Given the description of an element on the screen output the (x, y) to click on. 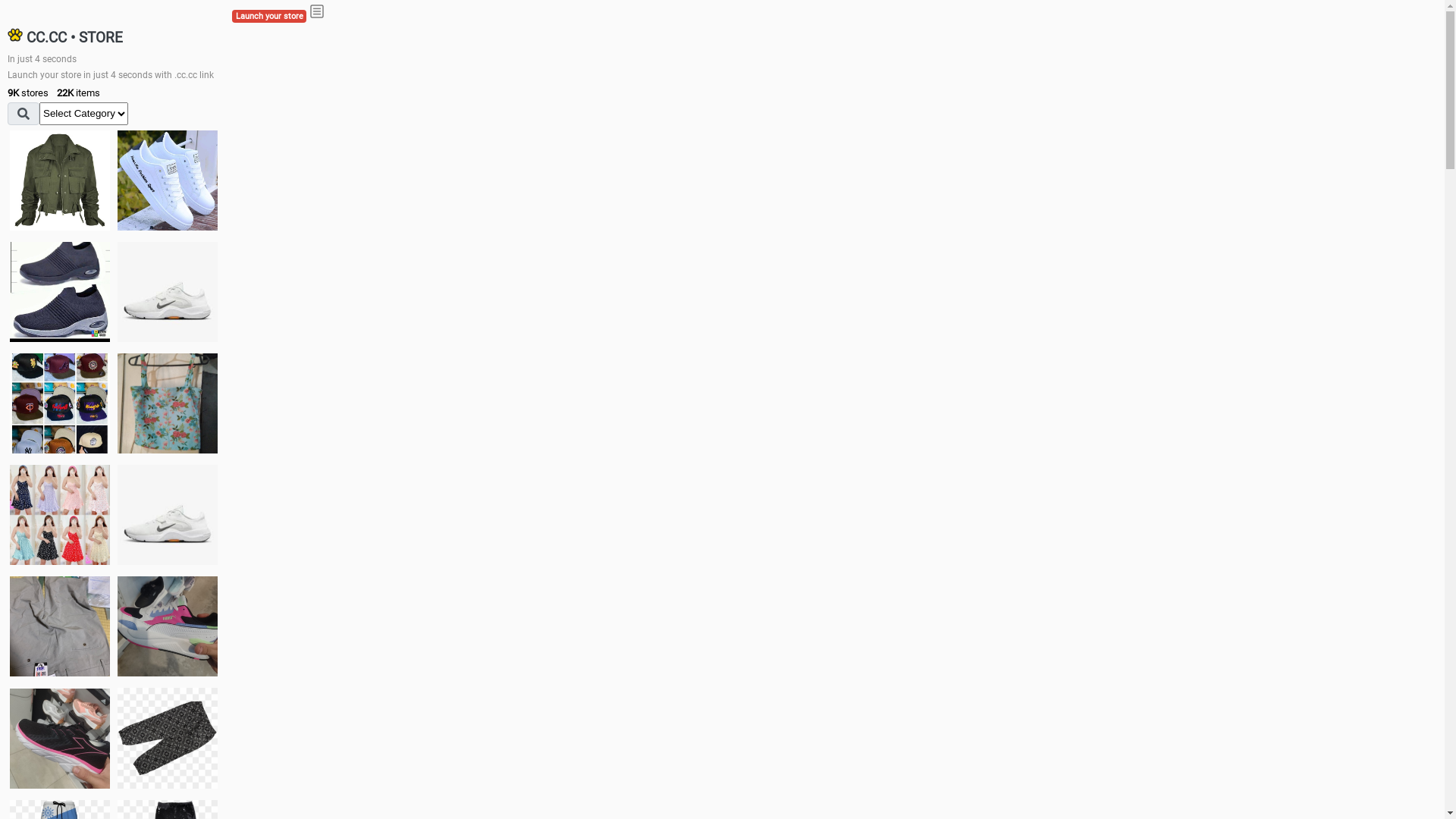
Shoes for boys Element type: hover (167, 291)
jacket Element type: hover (59, 180)
Ukay cloth Element type: hover (167, 403)
Things we need Element type: hover (59, 403)
Dress/square nect top Element type: hover (59, 514)
white shoes Element type: hover (167, 180)
Short pant Element type: hover (167, 737)
shoes for boys Element type: hover (59, 291)
Zapatillas pumas Element type: hover (167, 626)
Shoes Element type: hover (167, 514)
Launch your store Element type: text (269, 15)
Zapatillas Element type: hover (59, 738)
